Given the description of an element on the screen output the (x, y) to click on. 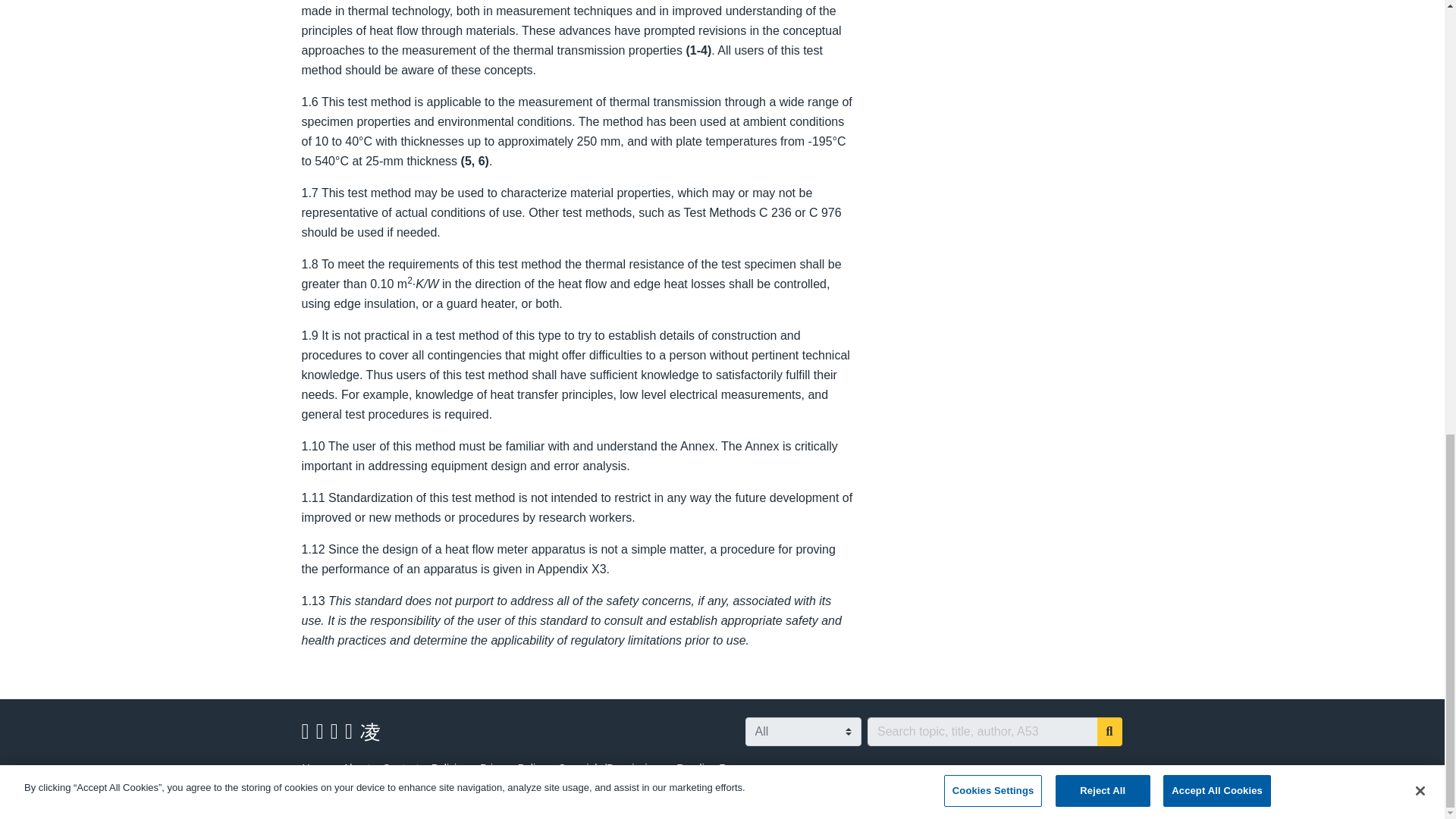
Search (1109, 731)
